Given the description of an element on the screen output the (x, y) to click on. 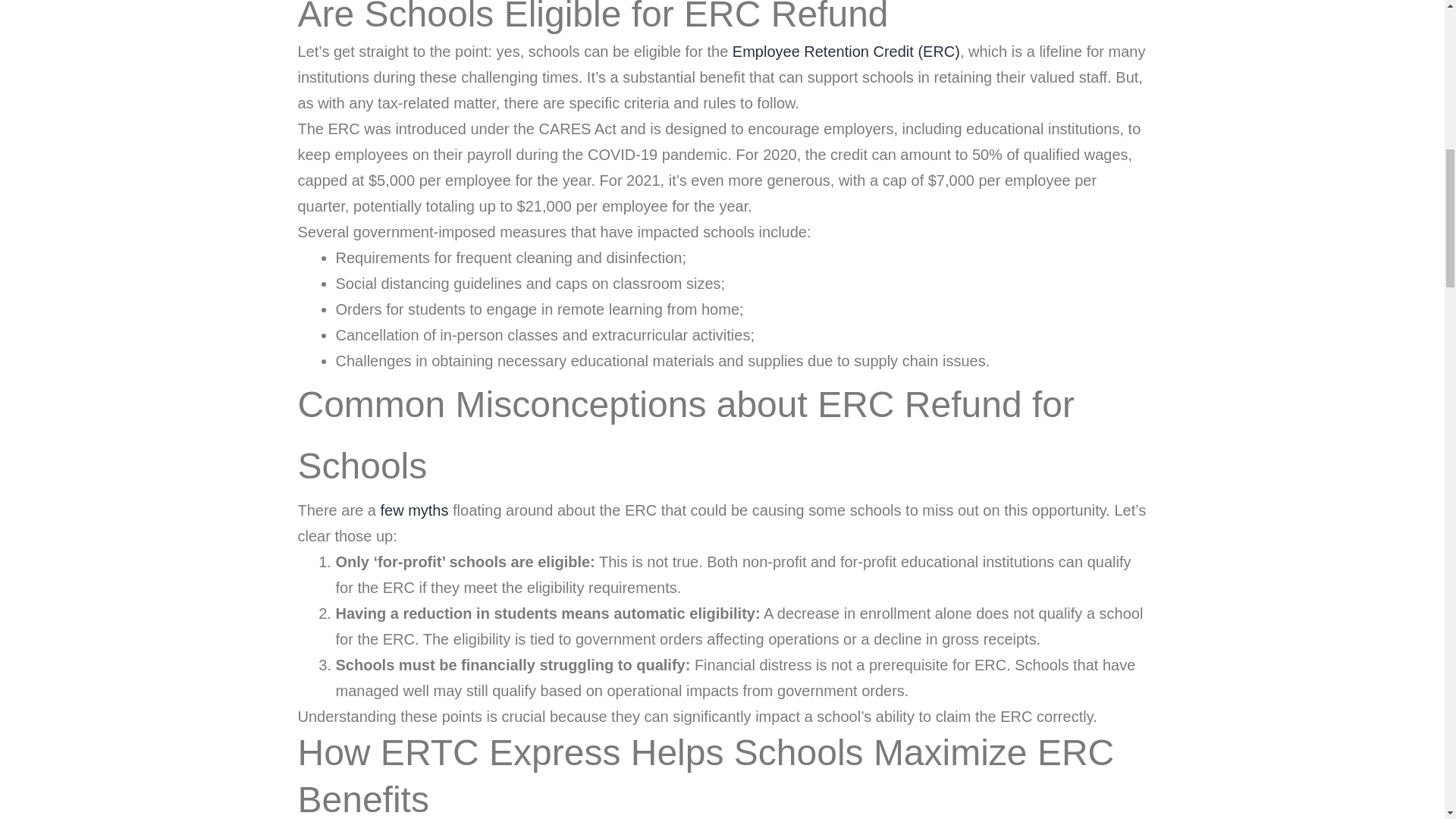
few myths (414, 510)
